Given the description of an element on the screen output the (x, y) to click on. 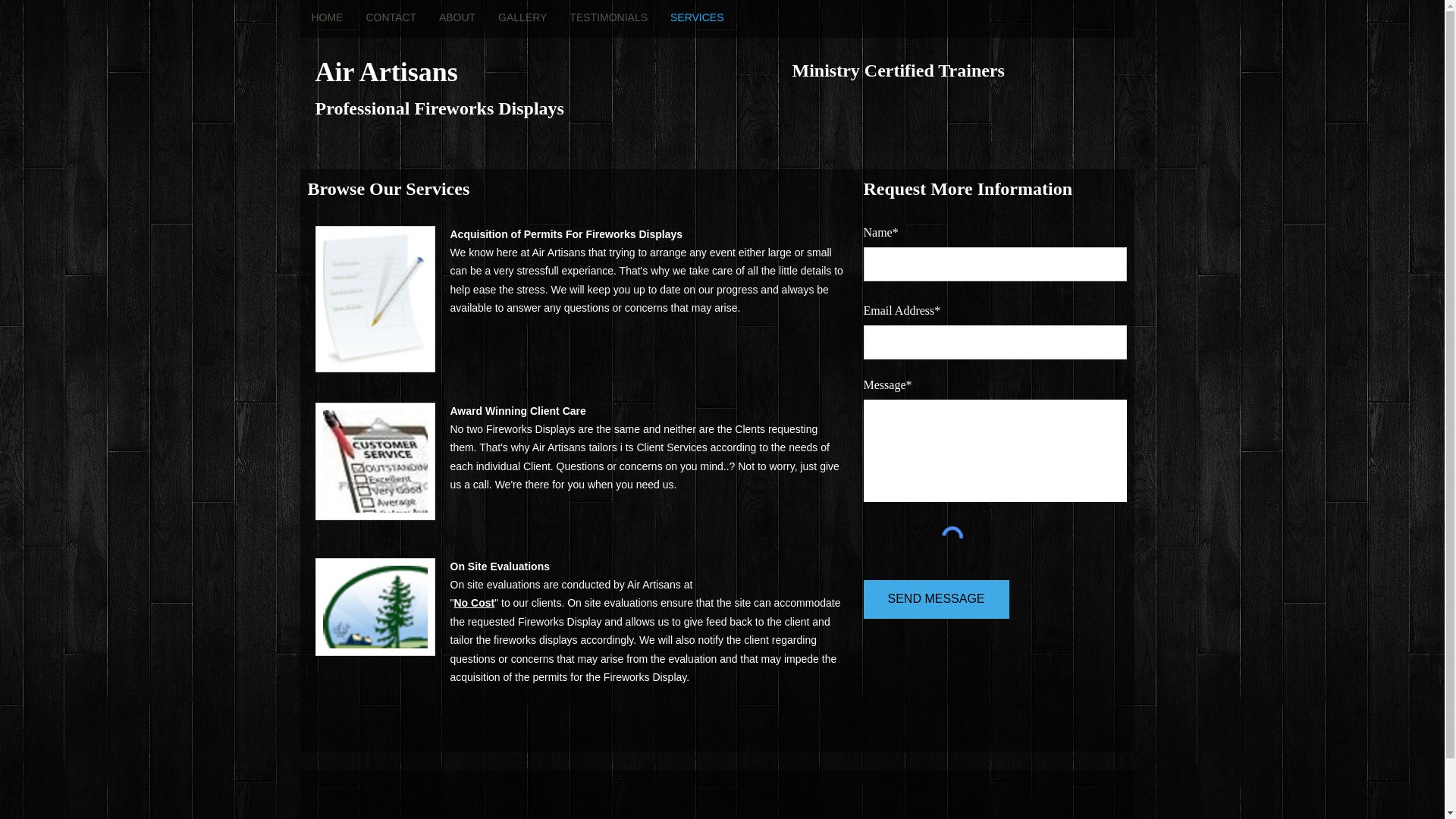
GALLERY (521, 17)
CONTACT (390, 17)
ABOUT (457, 17)
SERVICES (697, 17)
SEND MESSAGE (936, 599)
HOME (327, 17)
TESTIMONIALS (608, 17)
